Given the description of an element on the screen output the (x, y) to click on. 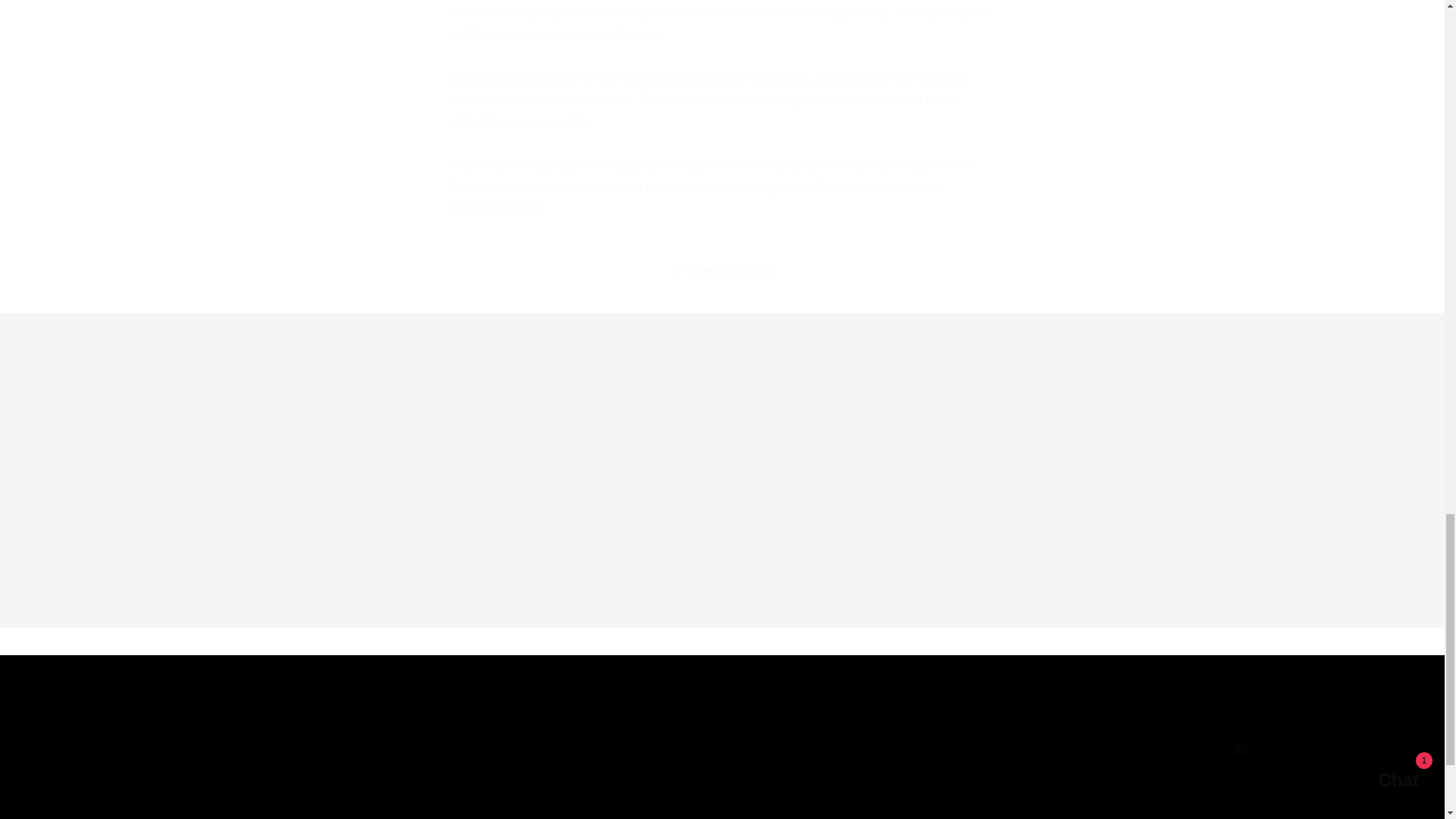
Post comment (510, 597)
